Given the description of an element on the screen output the (x, y) to click on. 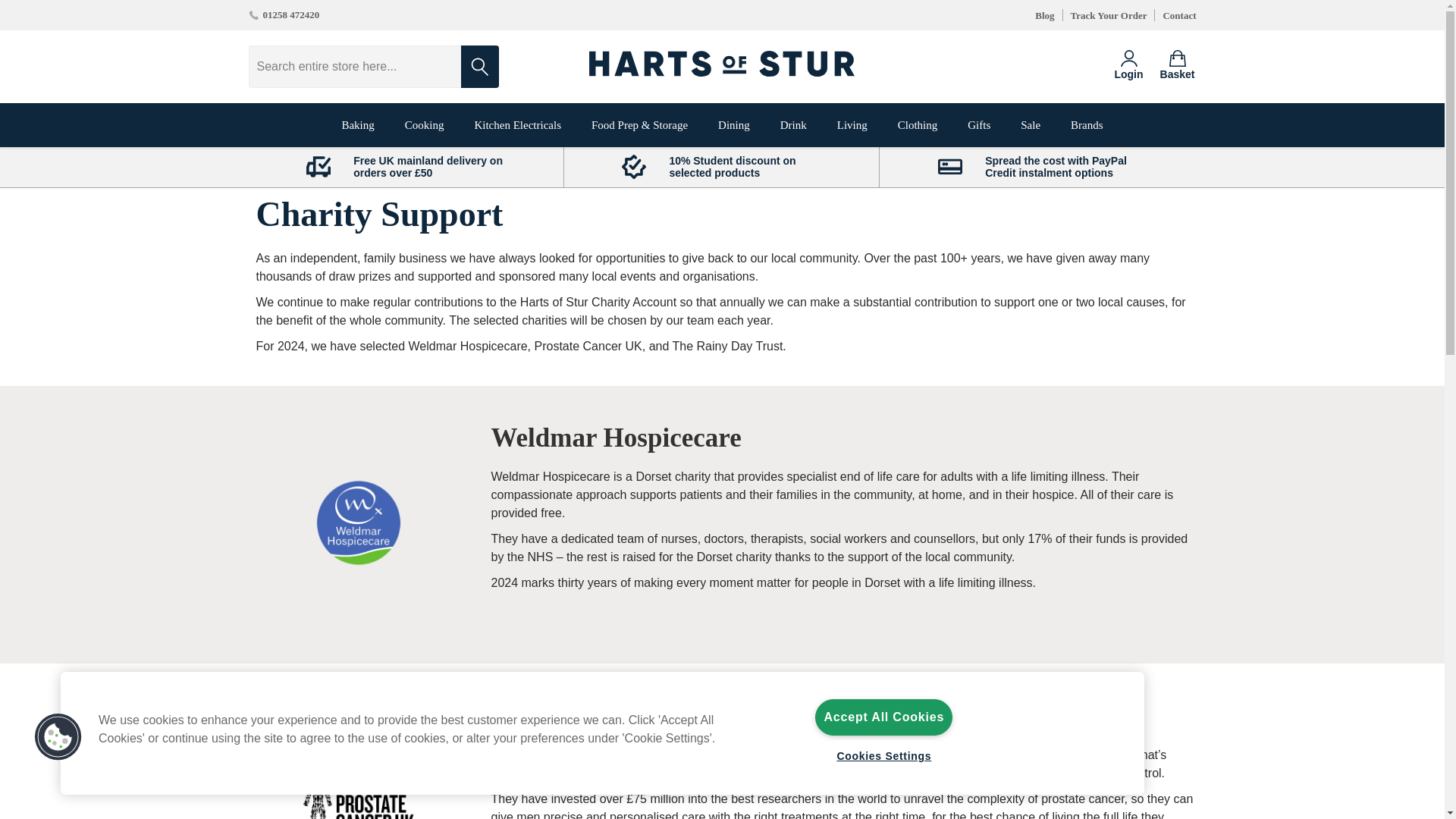
Basket (1177, 66)
Prostate Cancer UK (358, 786)
Track Your Order (1108, 15)
01258 472420 (284, 14)
Search (480, 66)
Blog (1044, 15)
Contact (1178, 15)
Weldmar Hospicecare (358, 522)
Baking (357, 125)
 Logo (721, 66)
Search (480, 66)
Cookies Button (57, 737)
